Given the description of an element on the screen output the (x, y) to click on. 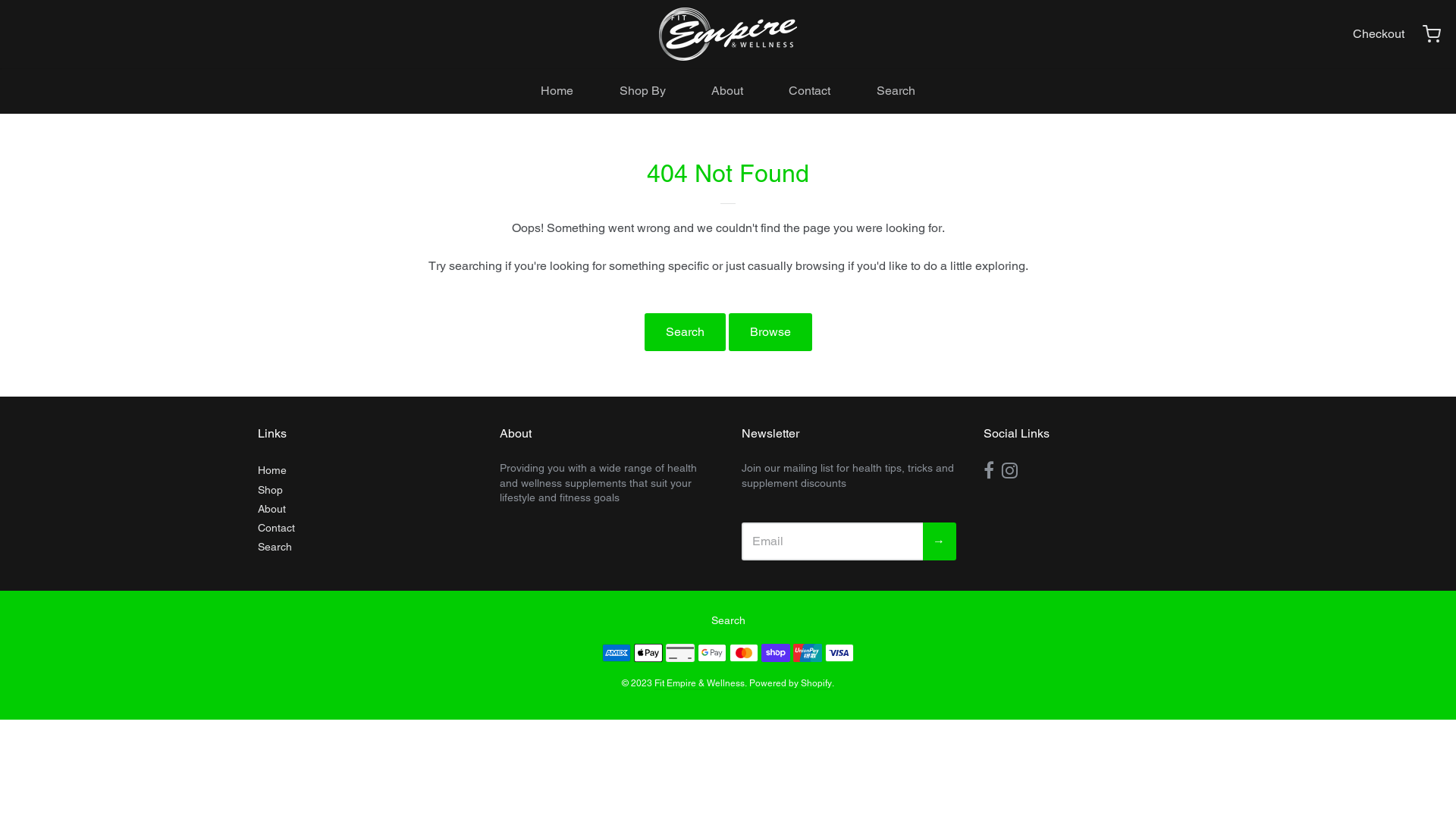
Contact Element type: text (809, 90)
Search Element type: text (895, 90)
Home Element type: text (556, 90)
Home Element type: text (364, 470)
Contact Element type: text (364, 527)
Search Element type: text (684, 332)
About Element type: text (364, 508)
Shop Element type: text (364, 489)
Opens external website in a new window. Element type: text (1009, 470)
Browse Element type: text (769, 332)
Checkout Element type: text (1378, 34)
Powered by Shopify Element type: text (790, 683)
Search Element type: text (728, 620)
Opens external website in a new window. Element type: text (988, 470)
Fit Empire & Wellness Element type: hover (727, 33)
Shop By Element type: text (642, 90)
Fit Empire & Wellness Element type: text (699, 683)
About Element type: text (727, 90)
Search Element type: text (364, 546)
